Given the description of an element on the screen output the (x, y) to click on. 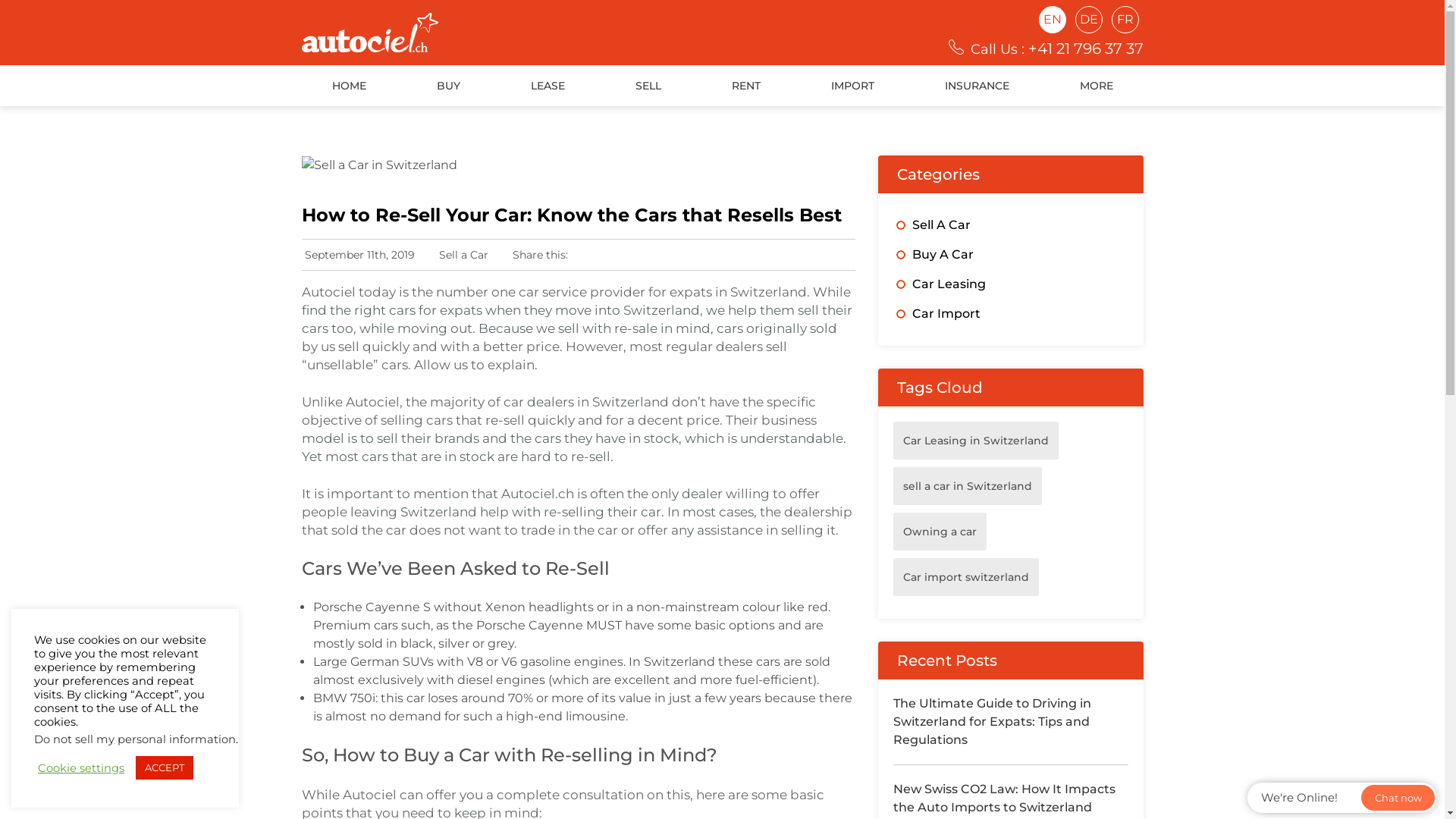
Car Leasing in Switzerland Element type: text (975, 440)
Car Leasing Element type: text (948, 283)
FR Element type: text (1125, 19)
HOME Element type: text (348, 85)
Car Import Element type: text (945, 313)
Sell A Car Element type: text (940, 224)
BUY Element type: text (447, 85)
MORE Element type: text (1095, 85)
Owning a car Element type: text (939, 531)
INSURANCE Element type: text (976, 85)
EN Element type: text (1052, 19)
ACCEPT Element type: text (164, 767)
IMPORT Element type: text (851, 85)
Car import switzerland Element type: text (965, 577)
LEASE Element type: text (546, 85)
Do not sell my personal information Element type: text (134, 739)
sell a car in Switzerland Element type: text (967, 486)
SELL Element type: text (647, 85)
Cookie settings Element type: text (80, 768)
RENT Element type: text (746, 85)
+41 21 796 37 37 Element type: text (1085, 48)
DE Element type: text (1088, 19)
Buy A Car Element type: text (941, 254)
